Given the description of an element on the screen output the (x, y) to click on. 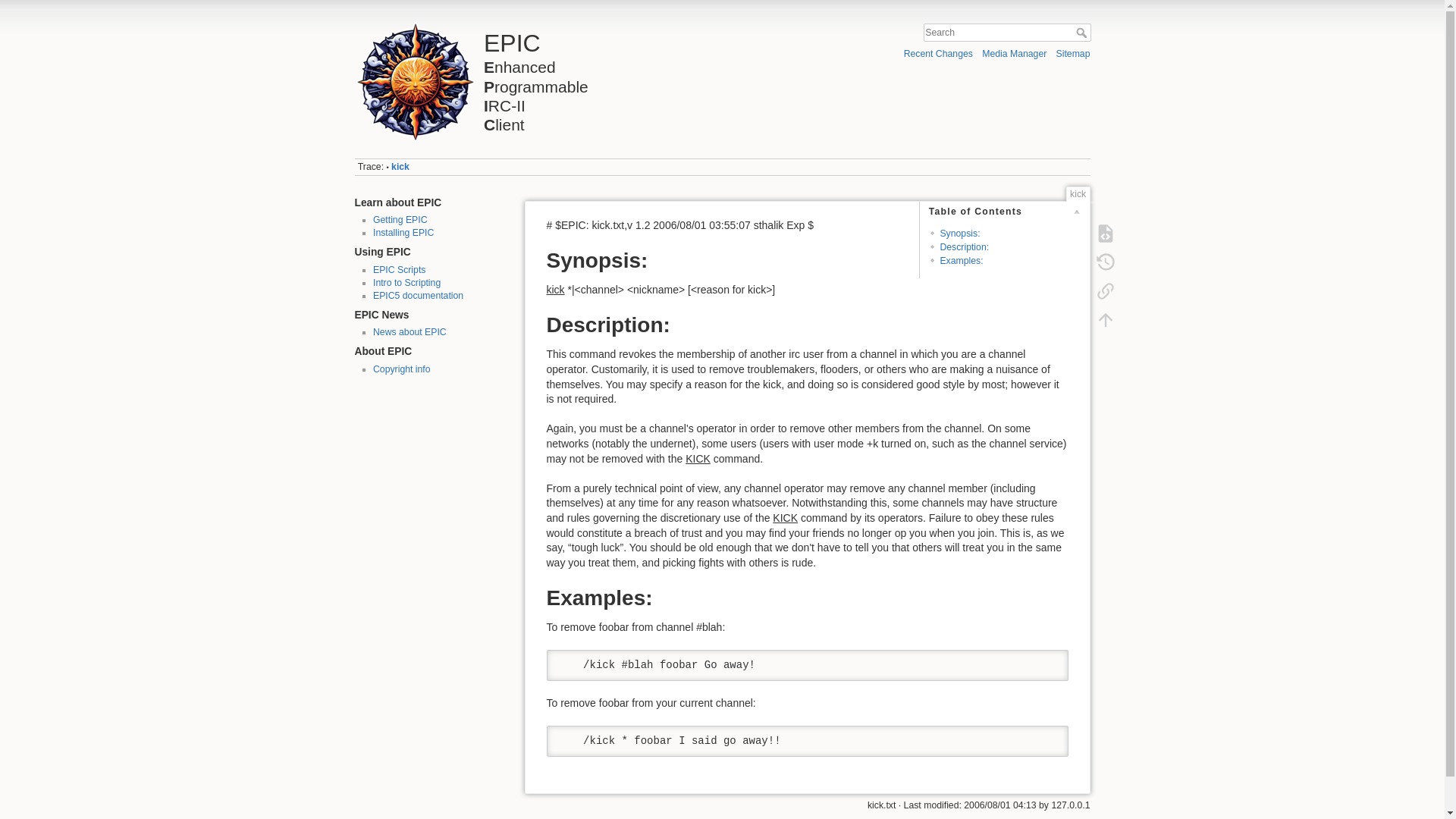
Sitemap (1073, 53)
Recent Changes (938, 53)
Search (1082, 32)
Intro to Scripting (406, 282)
installing (402, 232)
Installing EPIC (402, 232)
Examples: (534, 77)
Search (960, 260)
EPIC5 documentation (1082, 32)
kick (417, 295)
scripts (400, 166)
Getting EPIC (398, 269)
Description: (400, 219)
Synopsis: (963, 246)
